Given the description of an element on the screen output the (x, y) to click on. 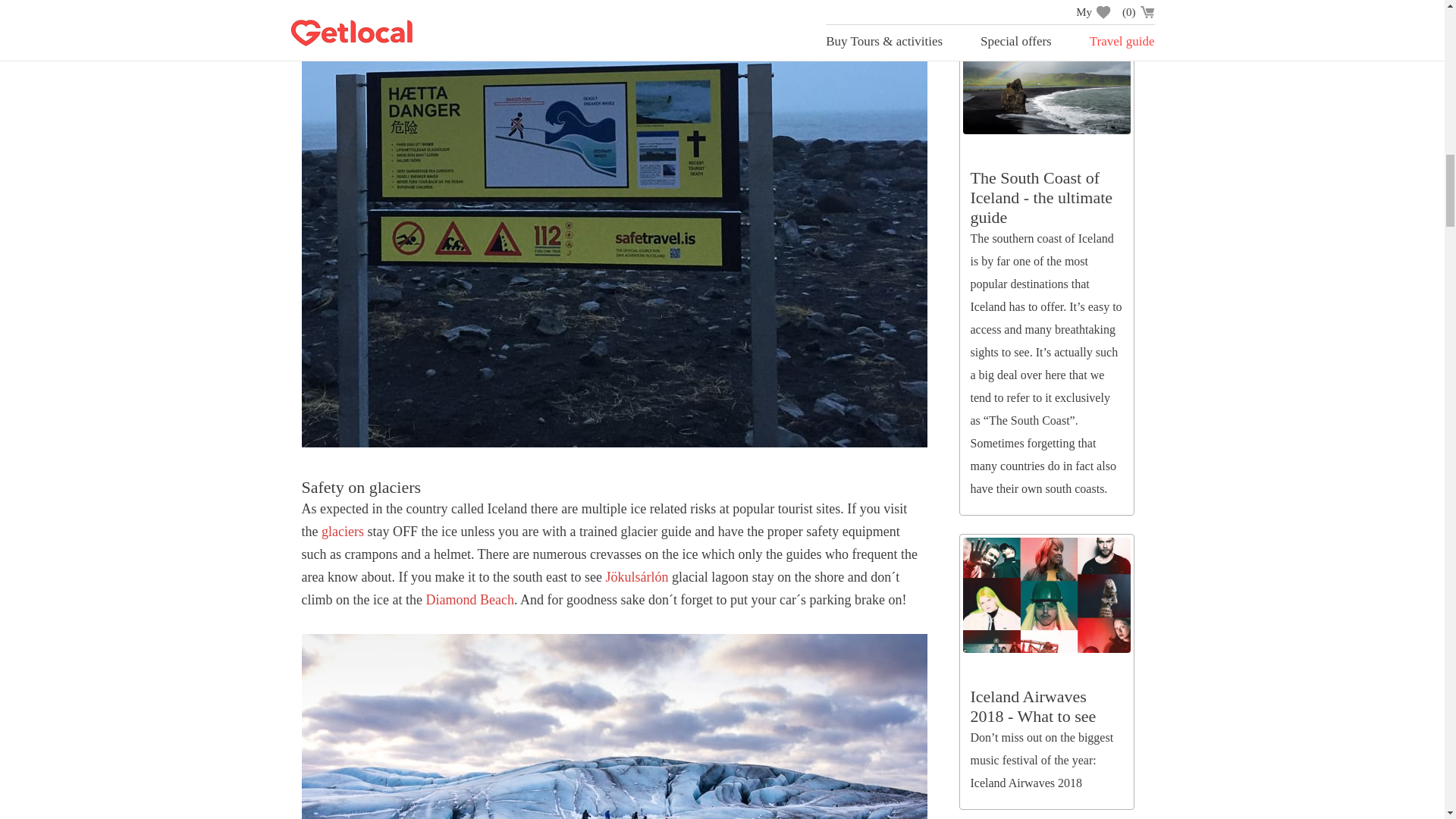
glaciers (342, 531)
The South Coast of Iceland - the ultimate guide (1042, 197)
Diamond Beach (469, 599)
Iceland Airwaves 2018 - What to see (1033, 706)
